Given the description of an element on the screen output the (x, y) to click on. 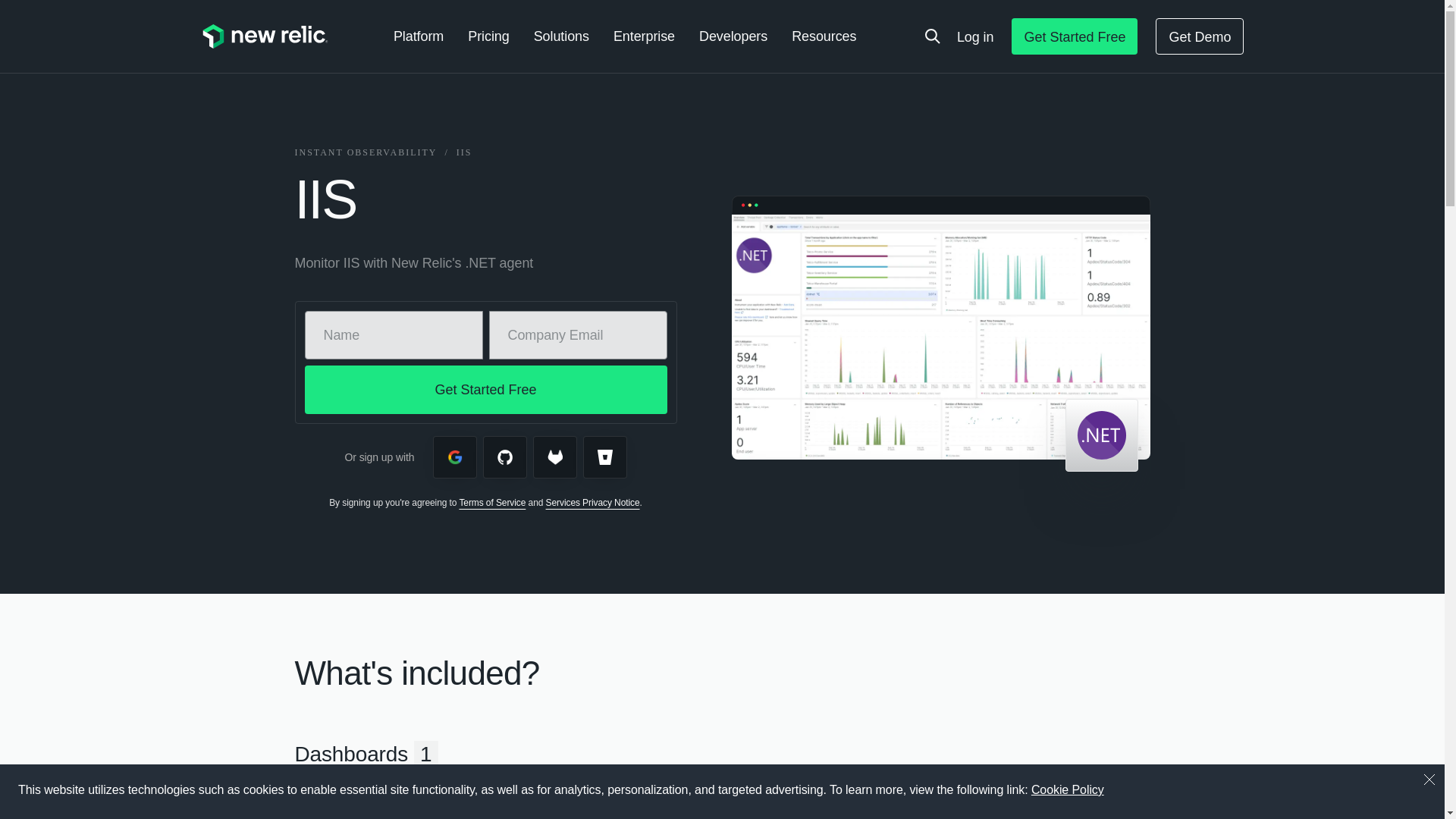
Platform (418, 36)
Cookie Policy (1066, 789)
New Relic Logo (264, 36)
